Given the description of an element on the screen output the (x, y) to click on. 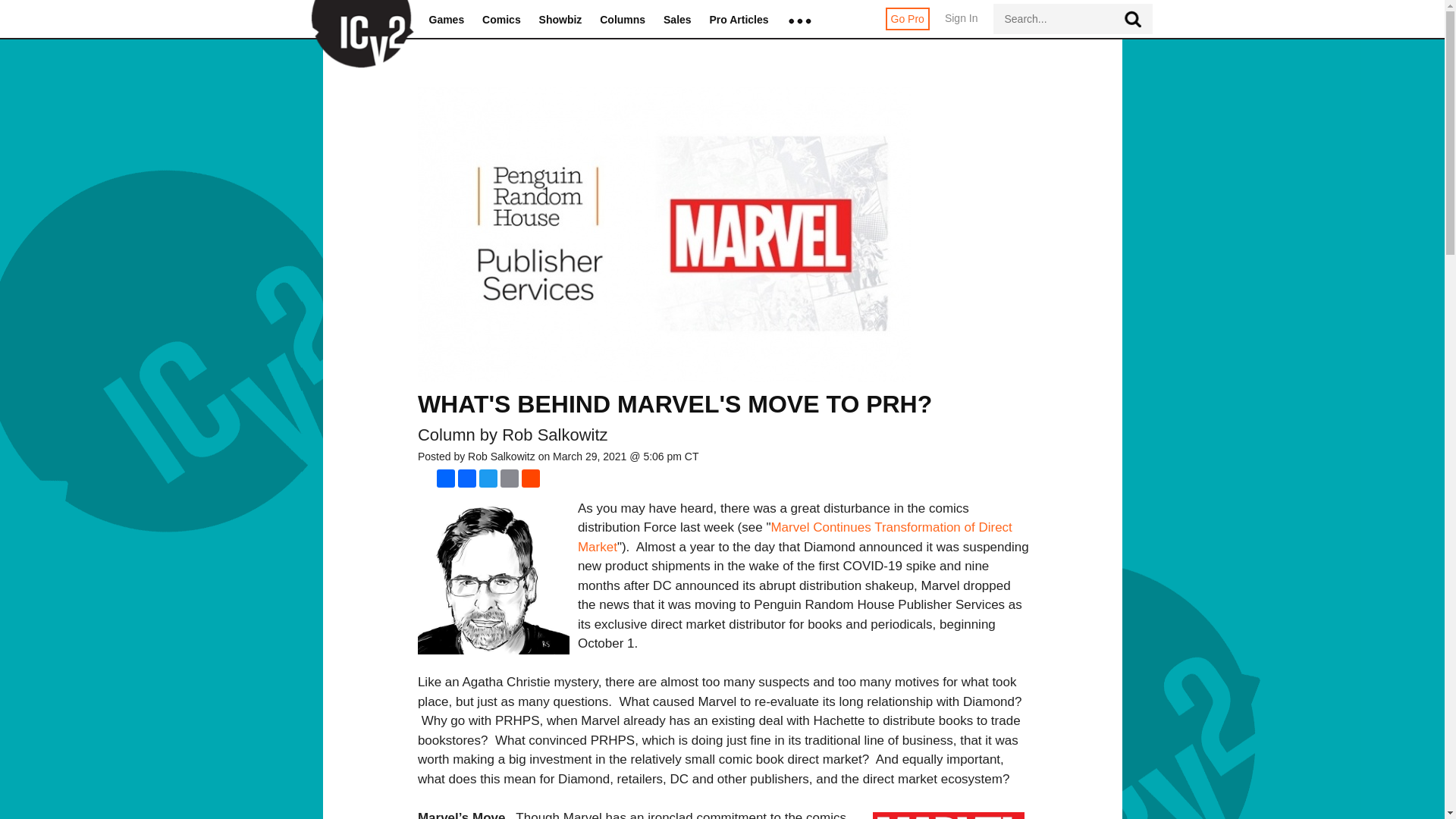
Sales (677, 20)
Twitter (488, 478)
ICv2 (357, 19)
Sign In (961, 25)
Pro Articles (739, 20)
Facebook (467, 478)
Go Pro (907, 18)
WHAT'S BEHIND MARVEL'S MOVE TO PRH? (674, 403)
Games (446, 20)
Comics (501, 20)
Reddit (530, 478)
Showbiz (560, 20)
Columns (622, 20)
Share (446, 478)
Email (509, 478)
